Given the description of an element on the screen output the (x, y) to click on. 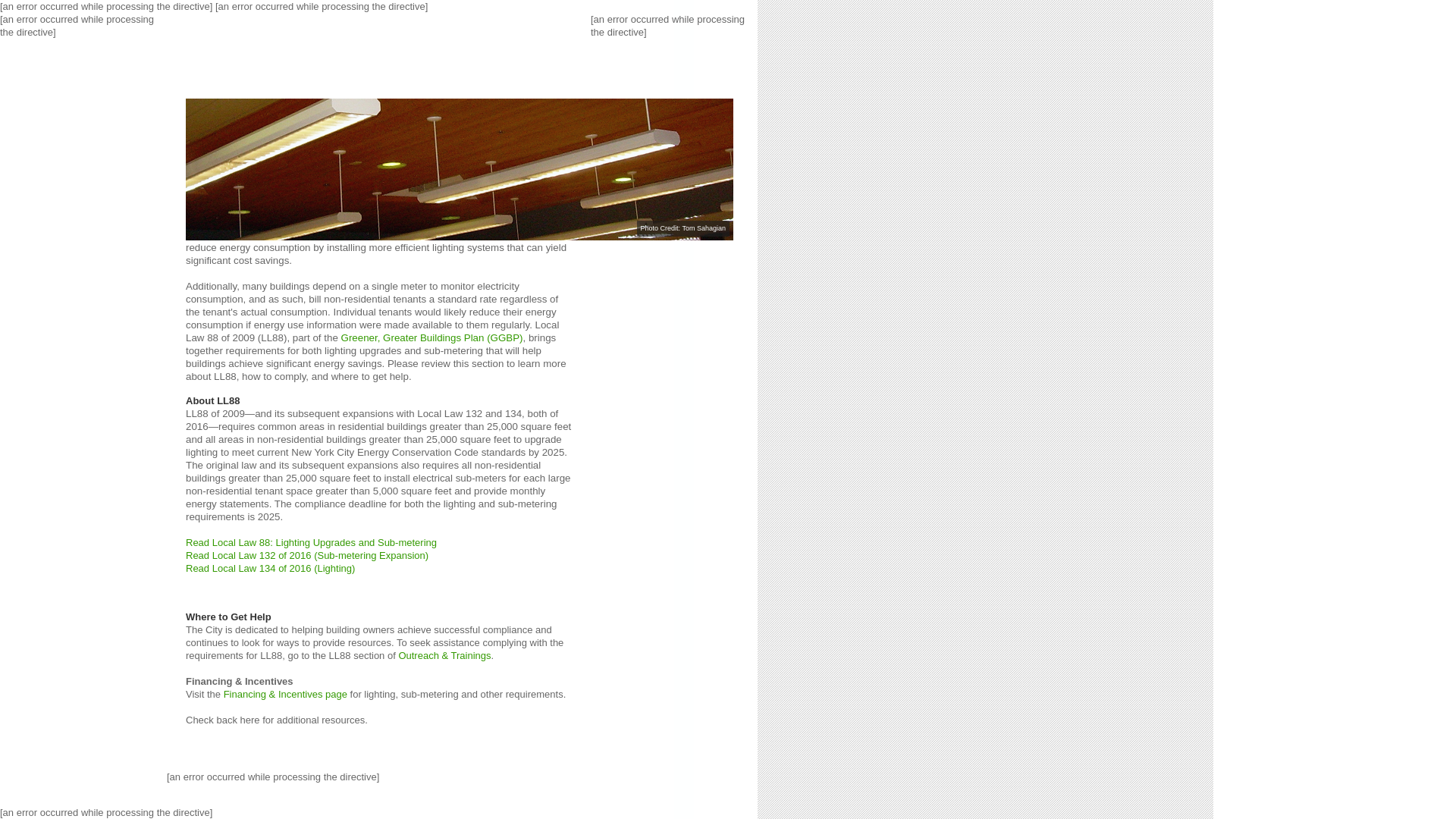
Read Local Law 88: Lighting Upgrades and Sub-metering (311, 542)
